Given the description of an element on the screen output the (x, y) to click on. 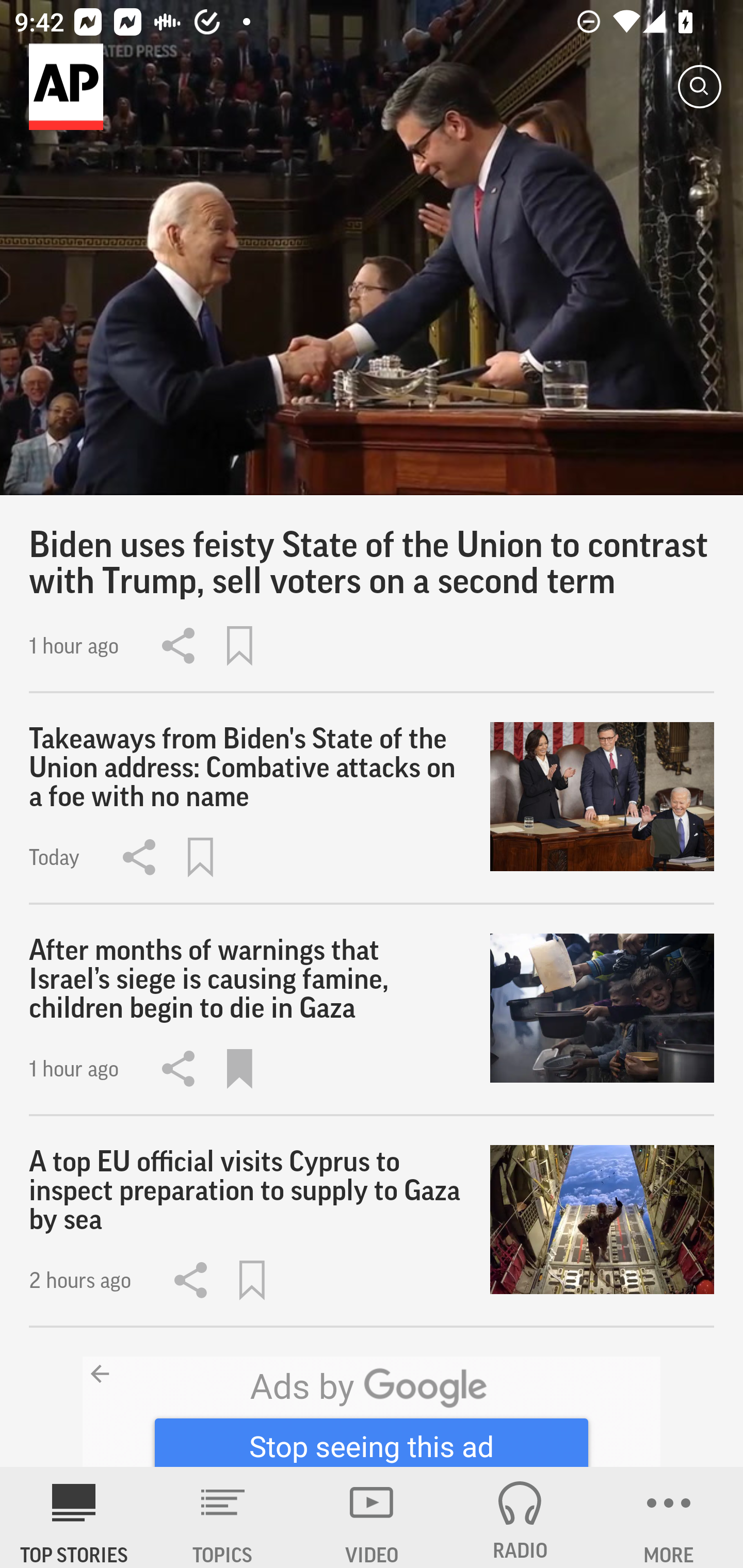
Become-a-test-center (371, 1411)
AP News TOP STORIES (74, 1517)
TOPICS (222, 1517)
VIDEO (371, 1517)
RADIO (519, 1517)
MORE (668, 1517)
